Given the description of an element on the screen output the (x, y) to click on. 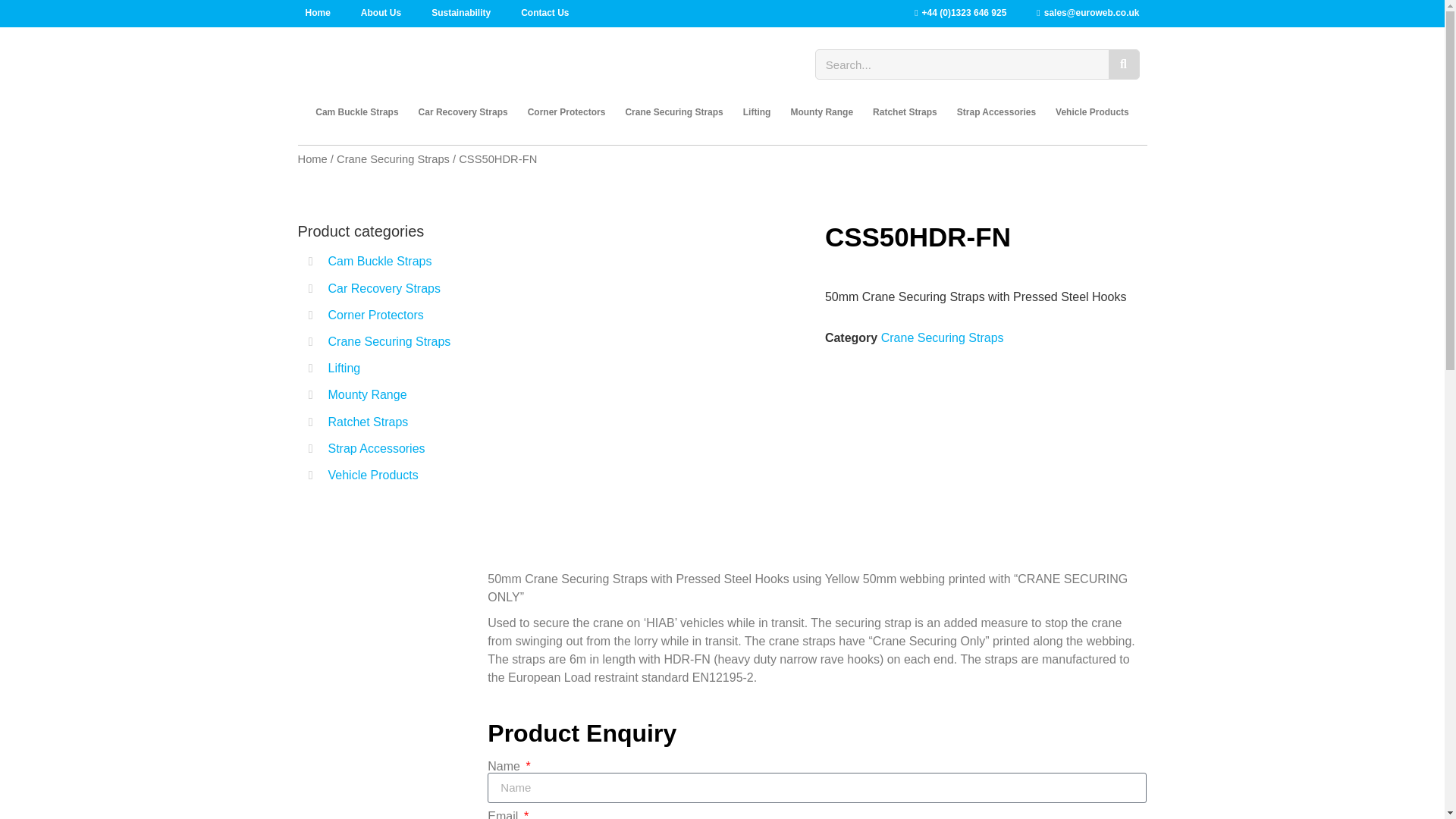
Corner Protectors (566, 112)
Ratchet Straps (905, 112)
Contact Us (544, 15)
Vehicle Products (1091, 112)
Car Recovery Straps (463, 112)
Lifting (756, 112)
Home (317, 15)
Sustainability (460, 15)
About Us (381, 15)
Crane Securing Straps (673, 112)
